Given the description of an element on the screen output the (x, y) to click on. 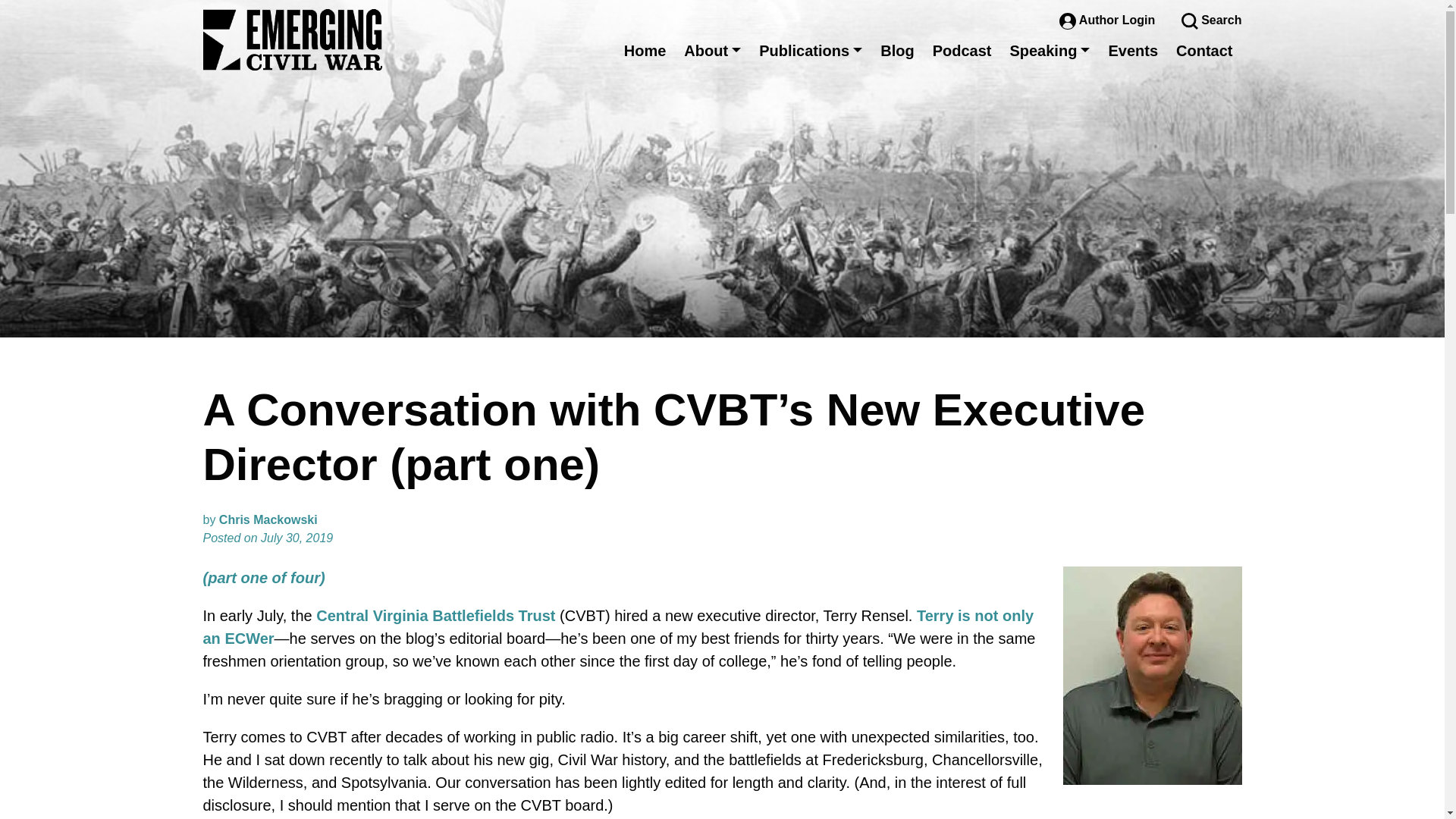
Blog (896, 50)
Publications (809, 50)
Events (1133, 50)
Central Virginia Battlefields Trust (434, 615)
Terry is not only an ECWer (618, 627)
Author Login (1108, 19)
Chris Mackowski (268, 519)
Contact (1204, 50)
Home (644, 50)
Search (1210, 19)
Podcast (962, 50)
About (712, 50)
Speaking (1049, 50)
